Given the description of an element on the screen output the (x, y) to click on. 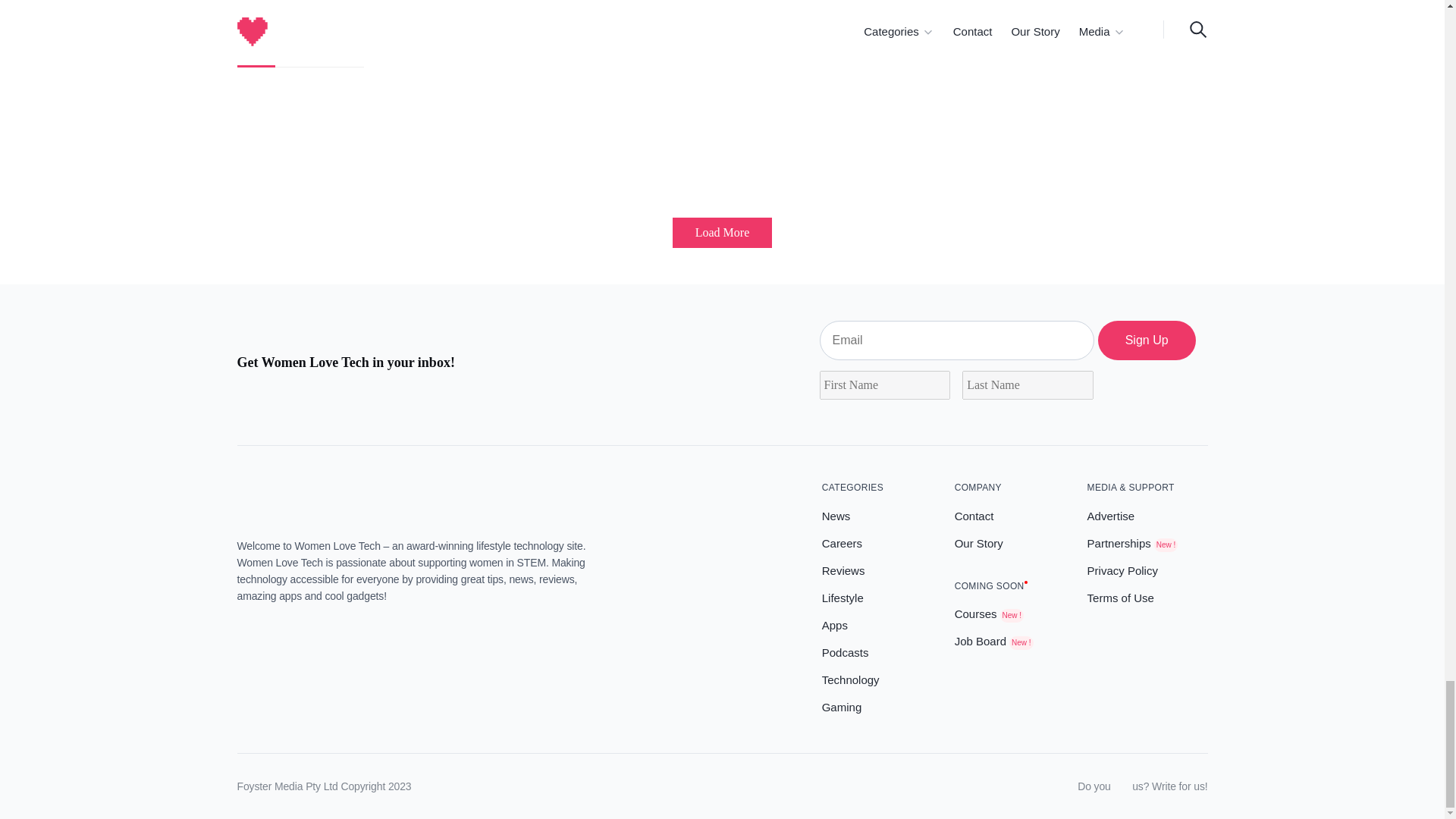
Sign Up (1146, 340)
